Given the description of an element on the screen output the (x, y) to click on. 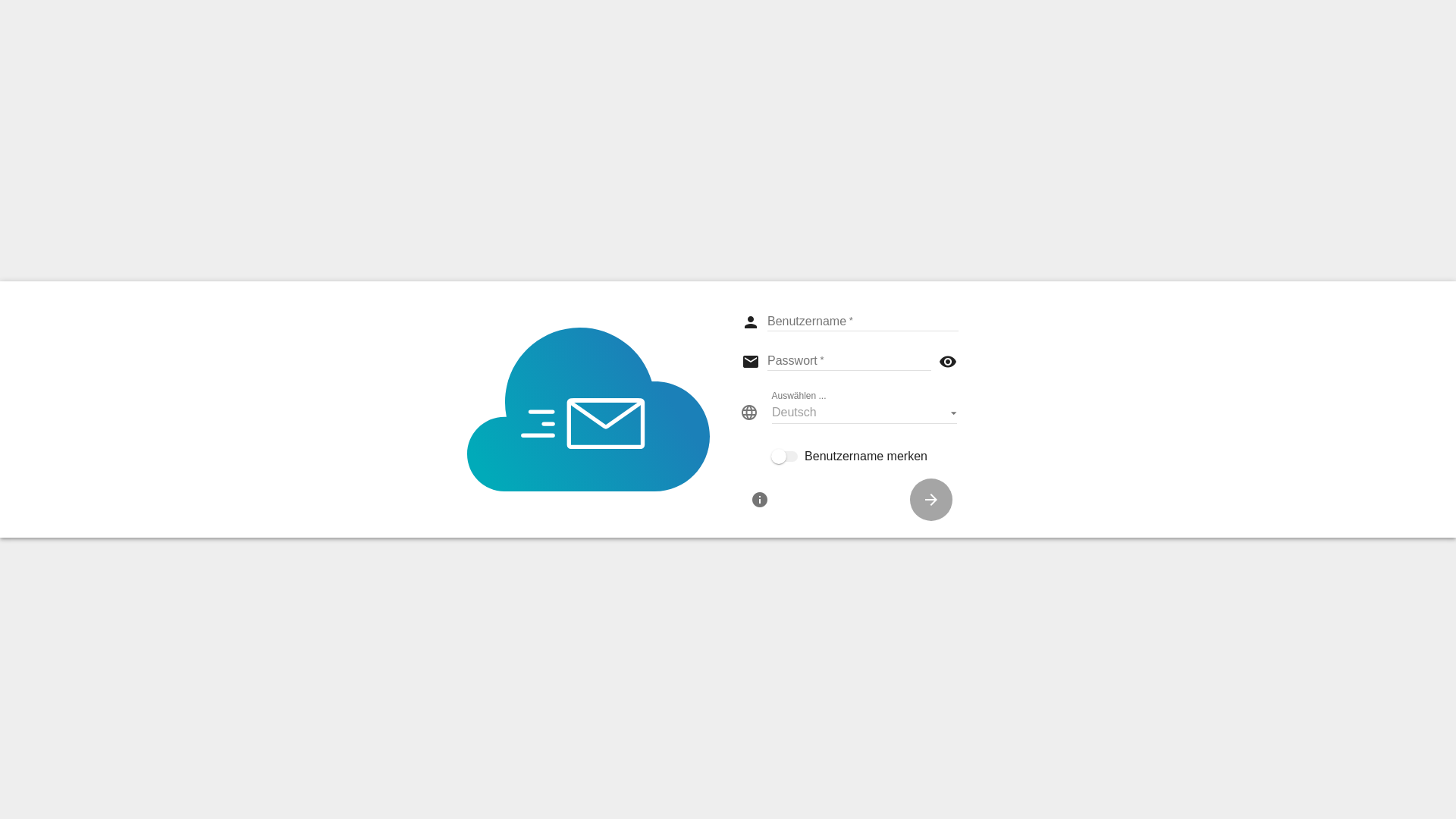
info Element type: text (759, 499)
arrow_forward Element type: text (931, 499)
